Given the description of an element on the screen output the (x, y) to click on. 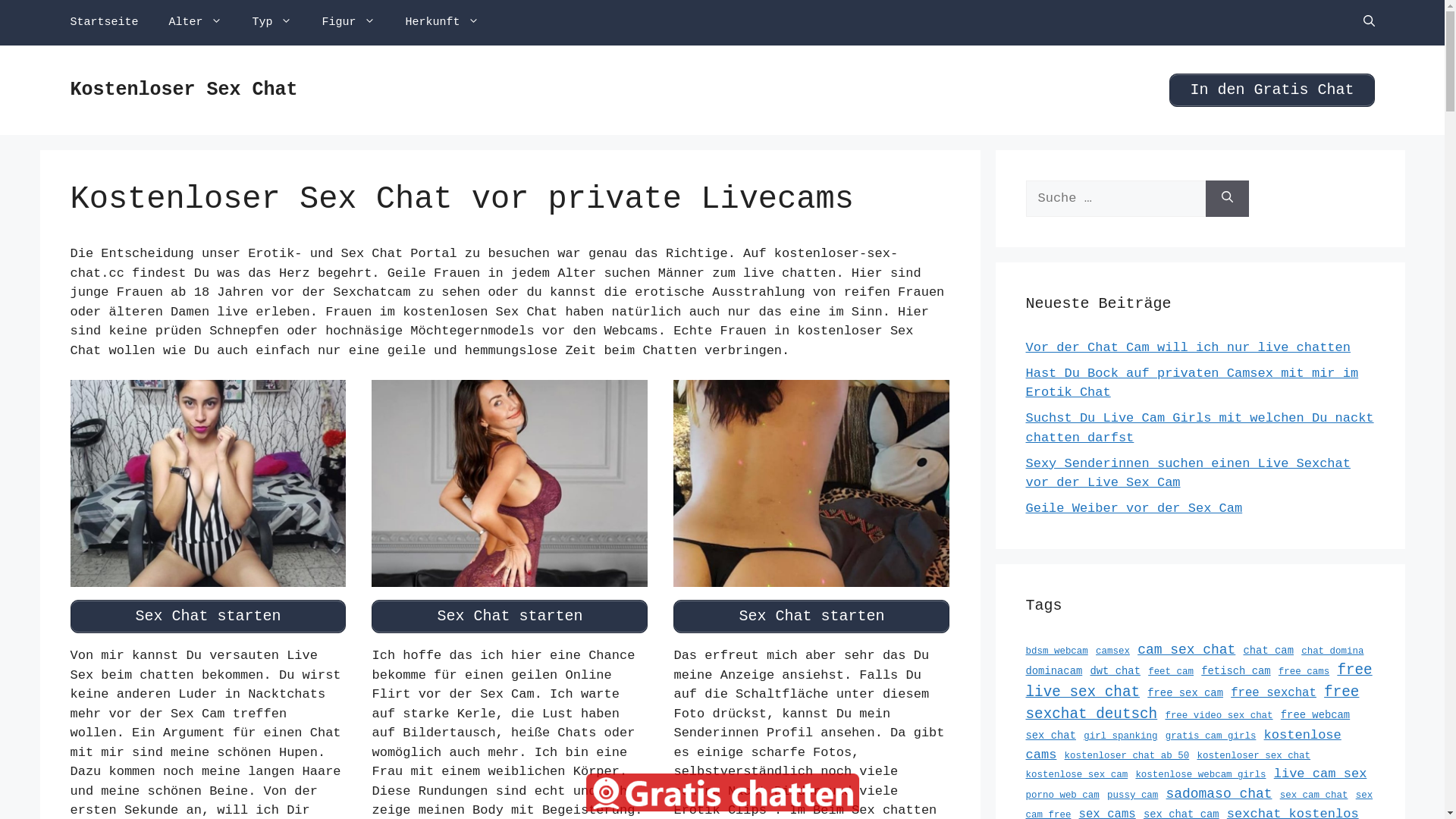
kostenlose webcam girls Element type: text (1200, 774)
Sexfantasien ohne Hemmungen ausprobieren beim Cam Chat Element type: hover (509, 577)
Sex Chat starten Element type: text (811, 616)
kostenlose cams Element type: text (1182, 745)
dominacam Element type: text (1053, 671)
sex cam chat Element type: text (1314, 795)
pussy cam Element type: text (1132, 795)
Figur Element type: text (348, 22)
Kostenloser Sex Chat Element type: text (183, 89)
free sex cam Element type: text (1185, 693)
kostenloser sex chat Element type: text (1253, 755)
free cams Element type: text (1303, 671)
porno web cam Element type: text (1061, 795)
sadomaso chat Element type: text (1219, 793)
cam sex chat Element type: text (1186, 648)
feet cam Element type: text (1170, 671)
Sex Chat starten Element type: text (207, 616)
free sexchat deutsch Element type: text (1191, 703)
gratis cam girls Element type: text (1210, 736)
Vor der Chat Cam will ich nur live chatten Element type: text (1187, 346)
Suche nach: Element type: hover (1114, 198)
free live sex chat Element type: text (1198, 681)
fetisch cam Element type: text (1235, 671)
Typ Element type: text (272, 22)
In den Gratis Chat Element type: text (1271, 89)
camsex Element type: text (1112, 651)
chat cam Element type: text (1268, 650)
chat domina Element type: text (1332, 651)
Startseite Element type: text (103, 22)
Geile Weiber vor der Sex Cam Element type: text (1133, 508)
girl spanking Element type: text (1120, 736)
kostenlose sex cam Element type: text (1076, 774)
live cam sex Element type: text (1320, 773)
dwt chat Element type: text (1114, 671)
free video sex chat Element type: text (1218, 715)
Suchst Du Live Cam Girls mit welchen Du nackt chatten darfst Element type: text (1199, 428)
Sex Chat starten Element type: text (509, 616)
Hast Du Bock auf privaten Camsex mit mir im Erotik Chat Element type: text (1191, 382)
Alter Element type: text (195, 22)
free webcam sex chat Element type: text (1187, 725)
Herkunft Element type: text (442, 22)
bdsm webcam Element type: text (1056, 651)
free sexchat Element type: text (1273, 692)
kostenloser chat ab 50 Element type: text (1126, 755)
